Given the description of an element on the screen output the (x, y) to click on. 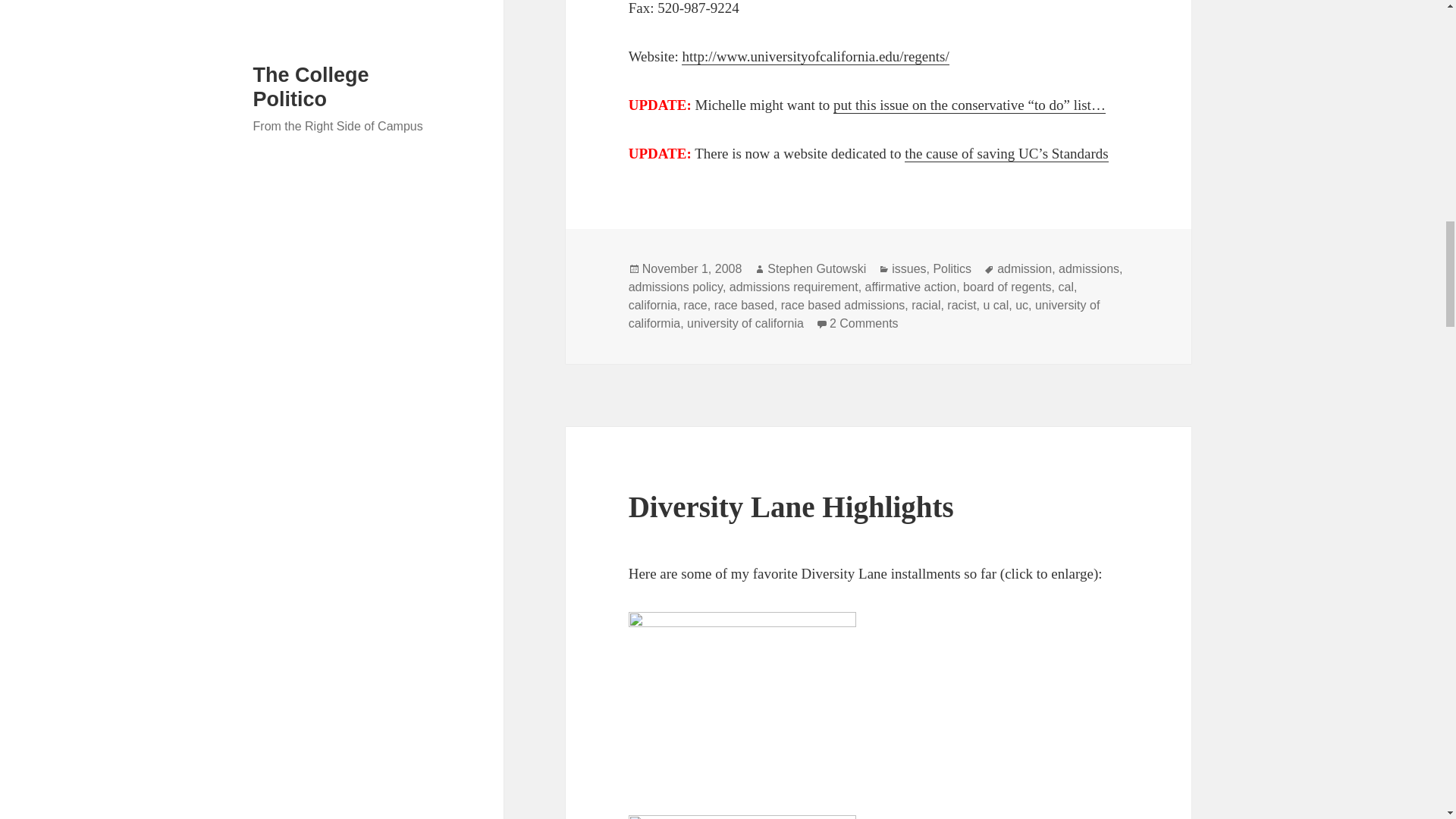
affirmative action (910, 287)
admissions (1088, 269)
Regents (815, 56)
diversity lane art (742, 699)
uc (1020, 305)
Stephen Gutowski (816, 269)
board of regents (1006, 287)
issues (908, 269)
university of califormia (864, 314)
Diversity Lane Highlights (790, 506)
